Given the description of an element on the screen output the (x, y) to click on. 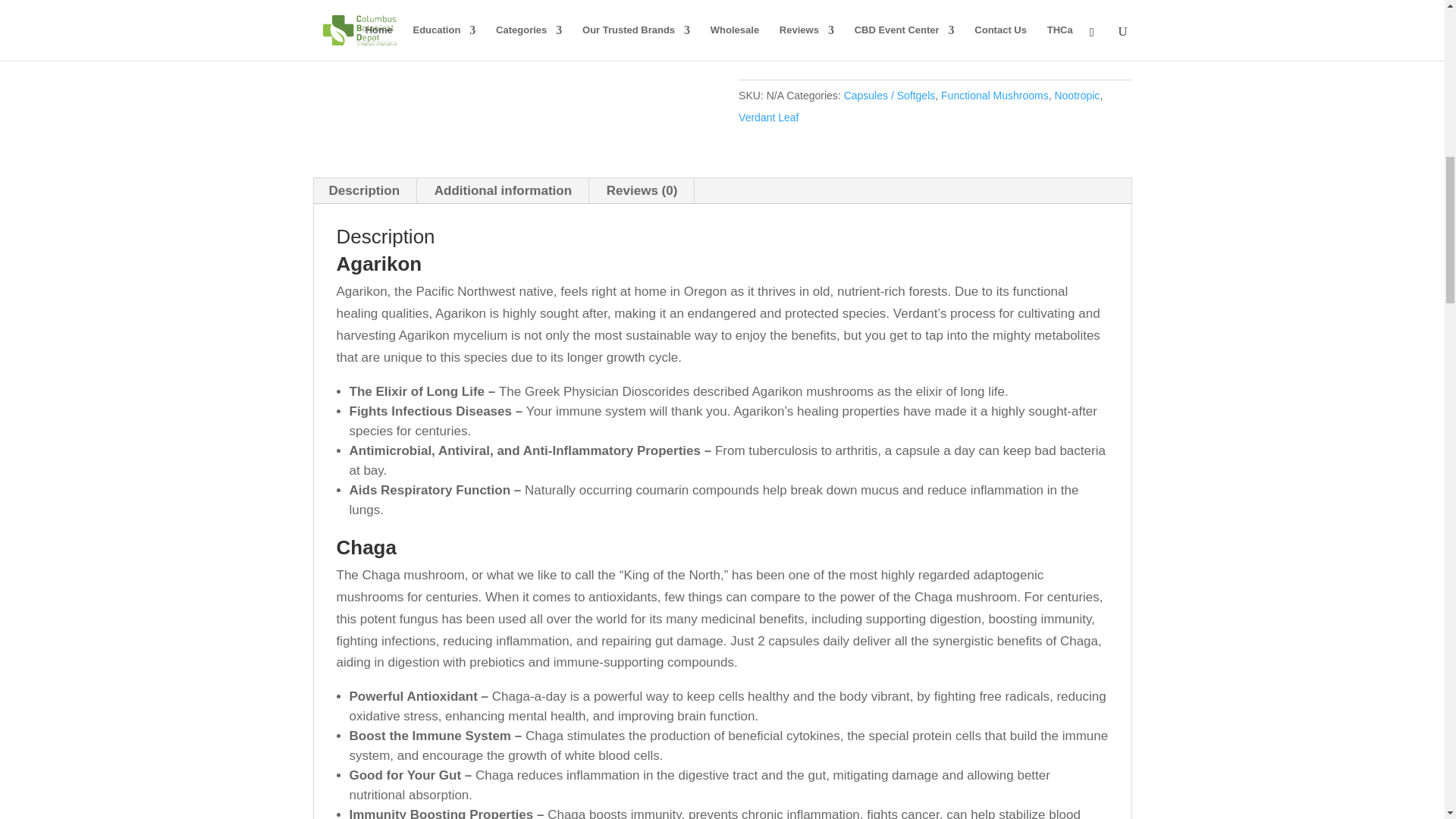
1 (761, 27)
